Given the description of an element on the screen output the (x, y) to click on. 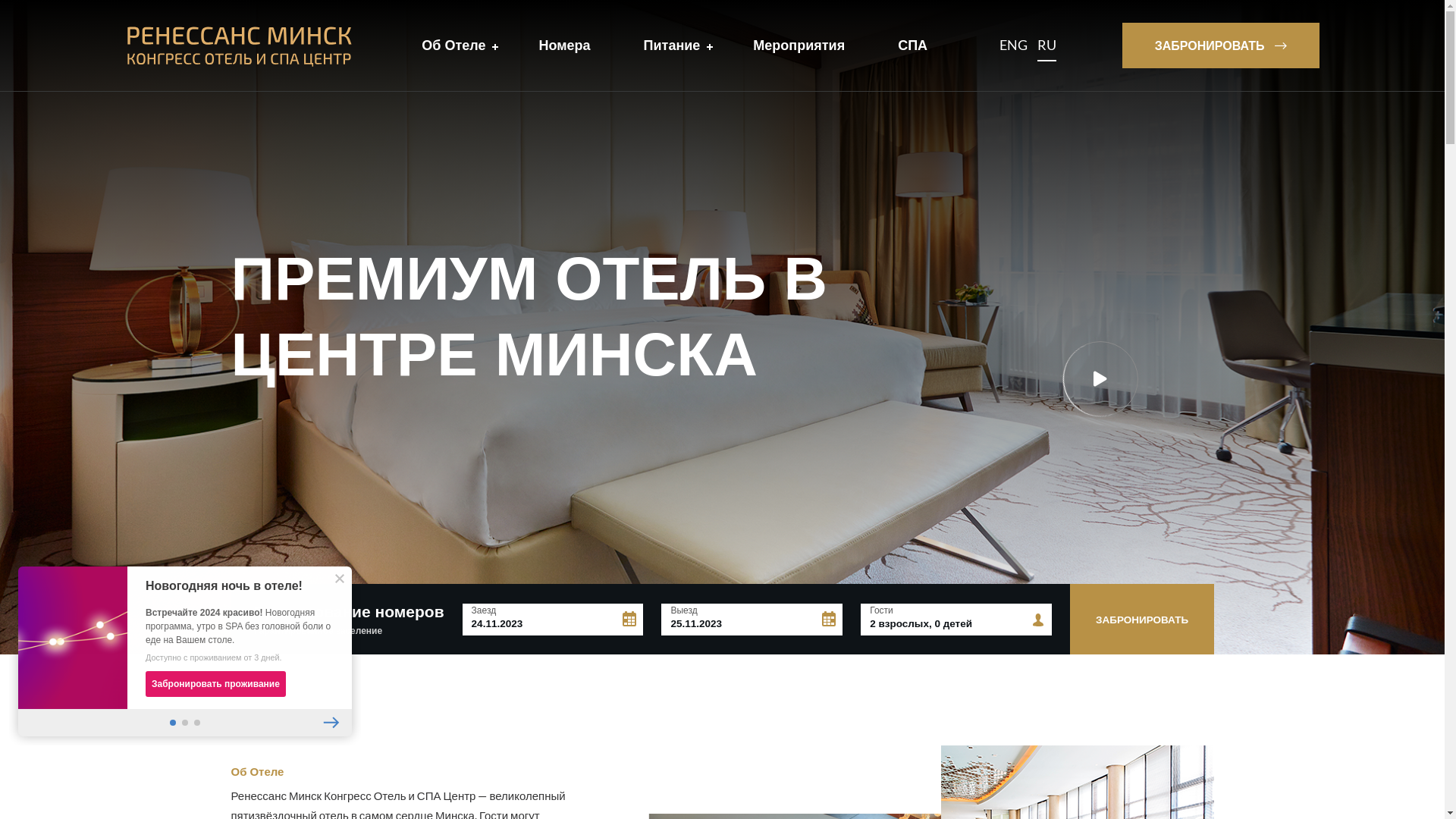
ENG Element type: text (1013, 45)
RU Element type: text (1046, 45)
